Given the description of an element on the screen output the (x, y) to click on. 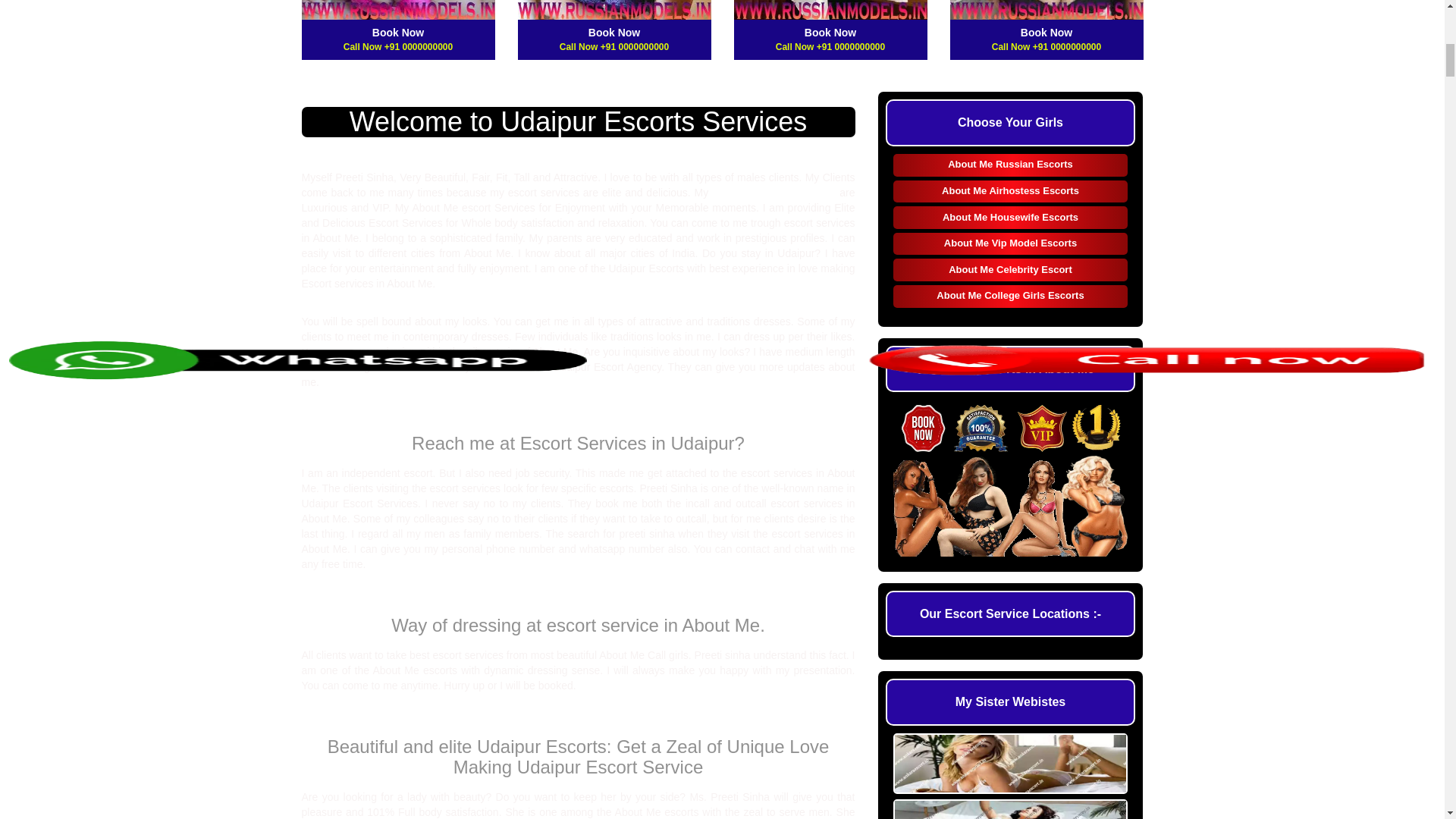
Sandhya from Udaipur Escort Agency (830, 9)
Udaipur Escort Services (773, 192)
About Me Housewife Escorts (1010, 217)
About Me Housewife Escorts (1010, 217)
About Me Celebrity Escort (1010, 269)
Udaipur Escort Services (773, 192)
About Me Vip Model Escorts (1010, 243)
Poonam from VIP Udaipur Escort Agency (613, 9)
About Me Russian Escorts (1010, 164)
About Me College Girls Escorts (1010, 296)
About Me Airhostess Escorts (1010, 191)
About Me Airhostess Escorts (1010, 191)
About Me Russian Escorts (1010, 164)
Teena from About Me Call Girls (1045, 9)
